Given the description of an element on the screen output the (x, y) to click on. 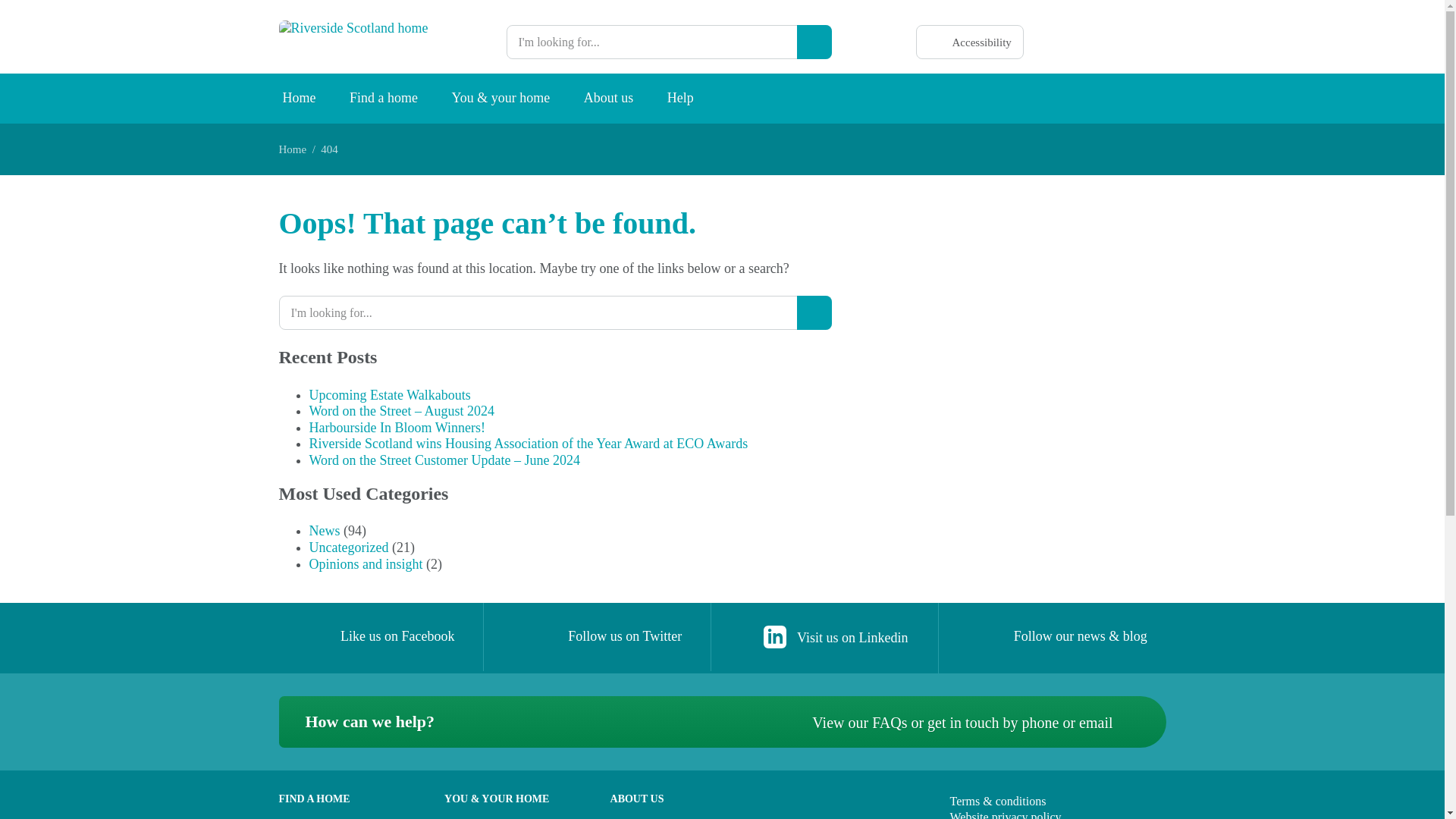
Help (680, 98)
Accessibility (969, 41)
Home (293, 149)
About us (609, 98)
Find a home (383, 98)
Home (298, 98)
